Given the description of an element on the screen output the (x, y) to click on. 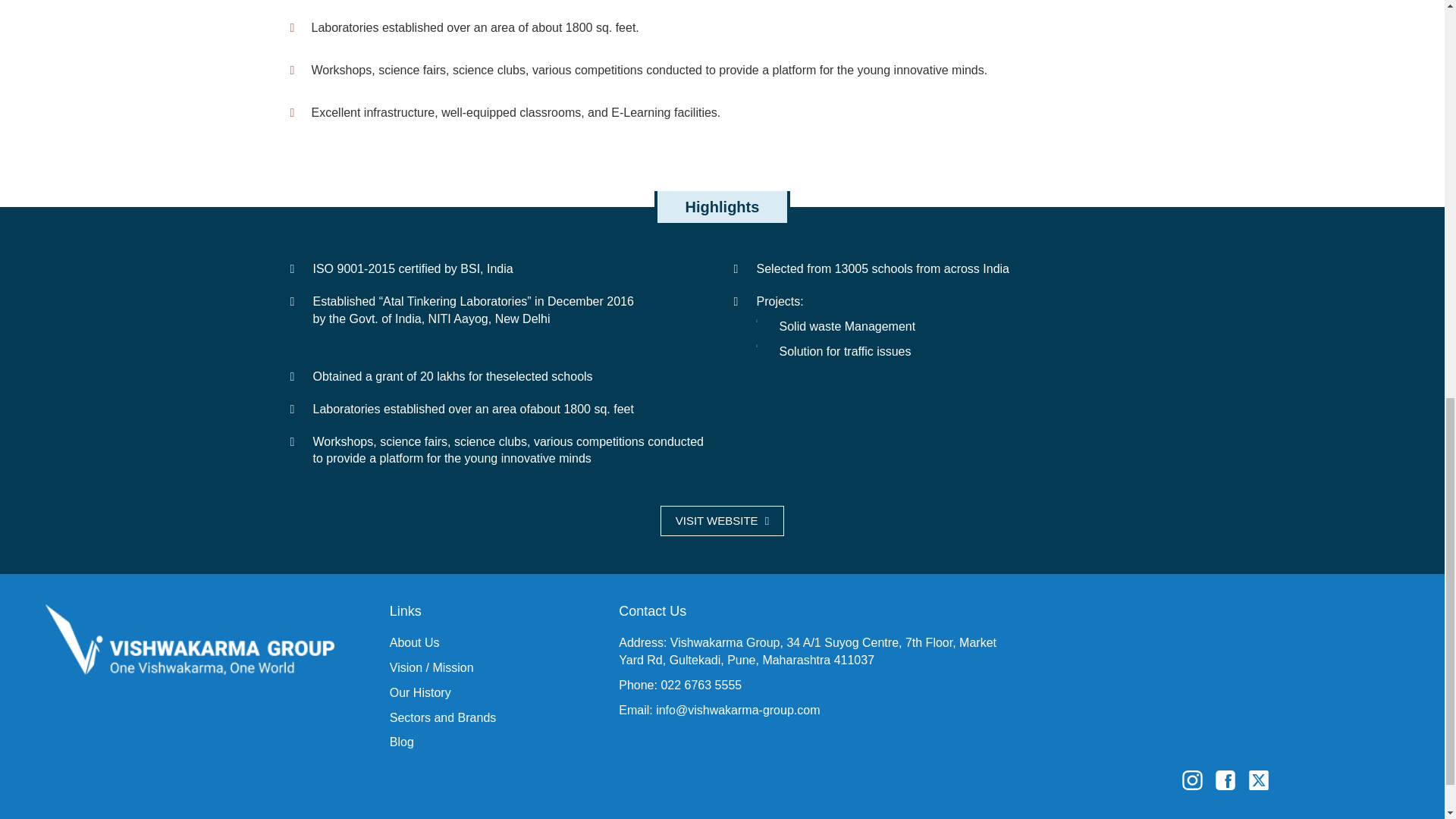
Twitter (1261, 779)
Facebook (1227, 779)
Instagram (1288, 793)
Linkedin (1282, 779)
